Given the description of an element on the screen output the (x, y) to click on. 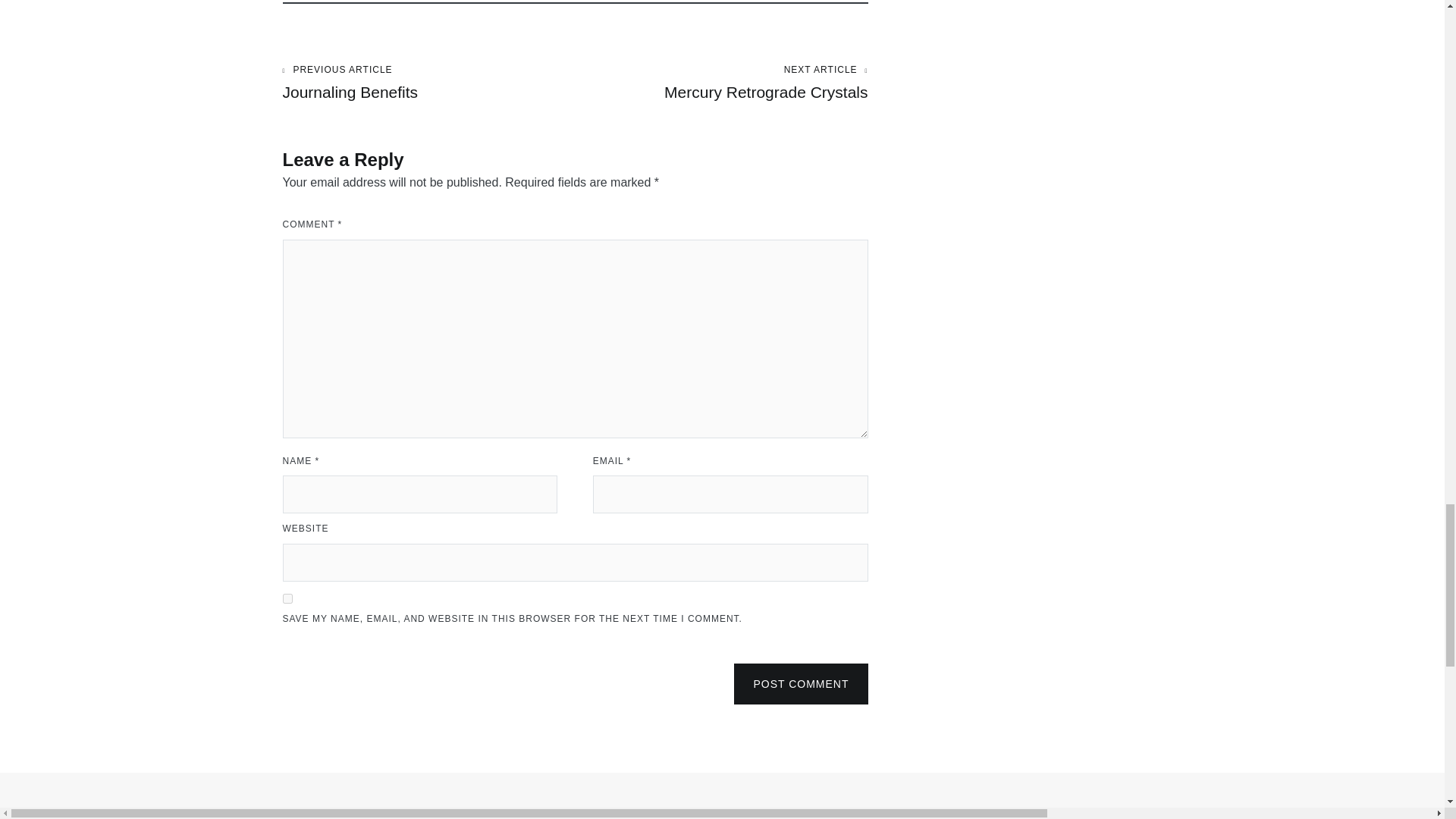
yes (287, 598)
POST COMMENT (800, 683)
